Given the description of an element on the screen output the (x, y) to click on. 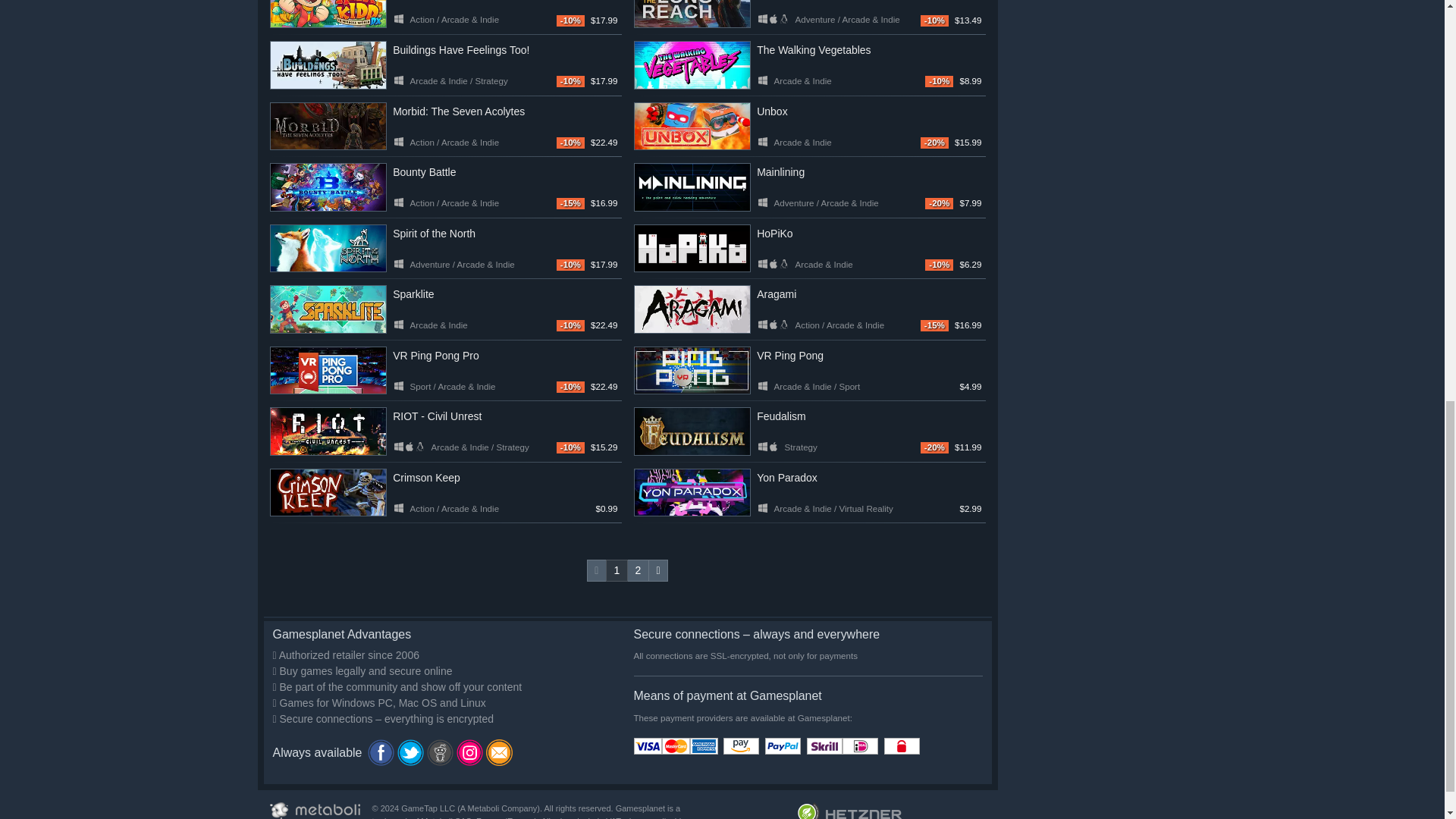
RIOT - Civil Unrest (328, 431)
Sparklite (328, 309)
Feudalism (692, 431)
VR Ping Pong (692, 370)
Alex Kidd in Miracle World DX (328, 14)
HoPiKo (692, 248)
Buildings Have Feelings Too! (328, 64)
VR Ping Pong Pro (328, 370)
Yon Paradox (692, 492)
Unbox (692, 126)
The Long Reach (692, 14)
The Walking Vegetables (692, 64)
Mainlining (692, 186)
Bounty Battle (328, 186)
Crimson Keep (328, 492)
